Given the description of an element on the screen output the (x, y) to click on. 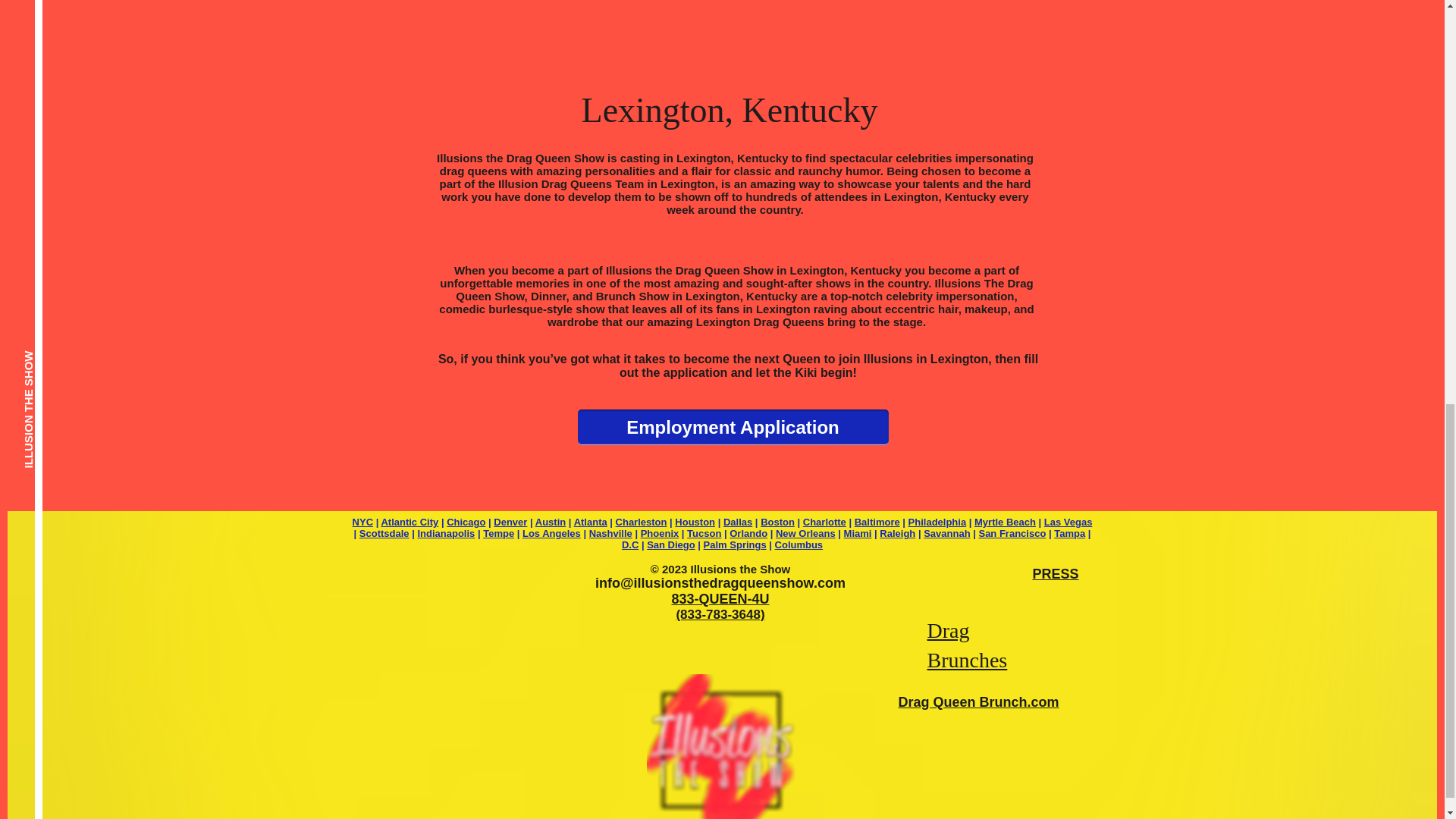
Denver (510, 521)
Atlanta (590, 521)
NYC (362, 521)
Atlantic City (409, 521)
Chicago (465, 521)
Employment Application (733, 427)
Austin (550, 521)
